Given the description of an element on the screen output the (x, y) to click on. 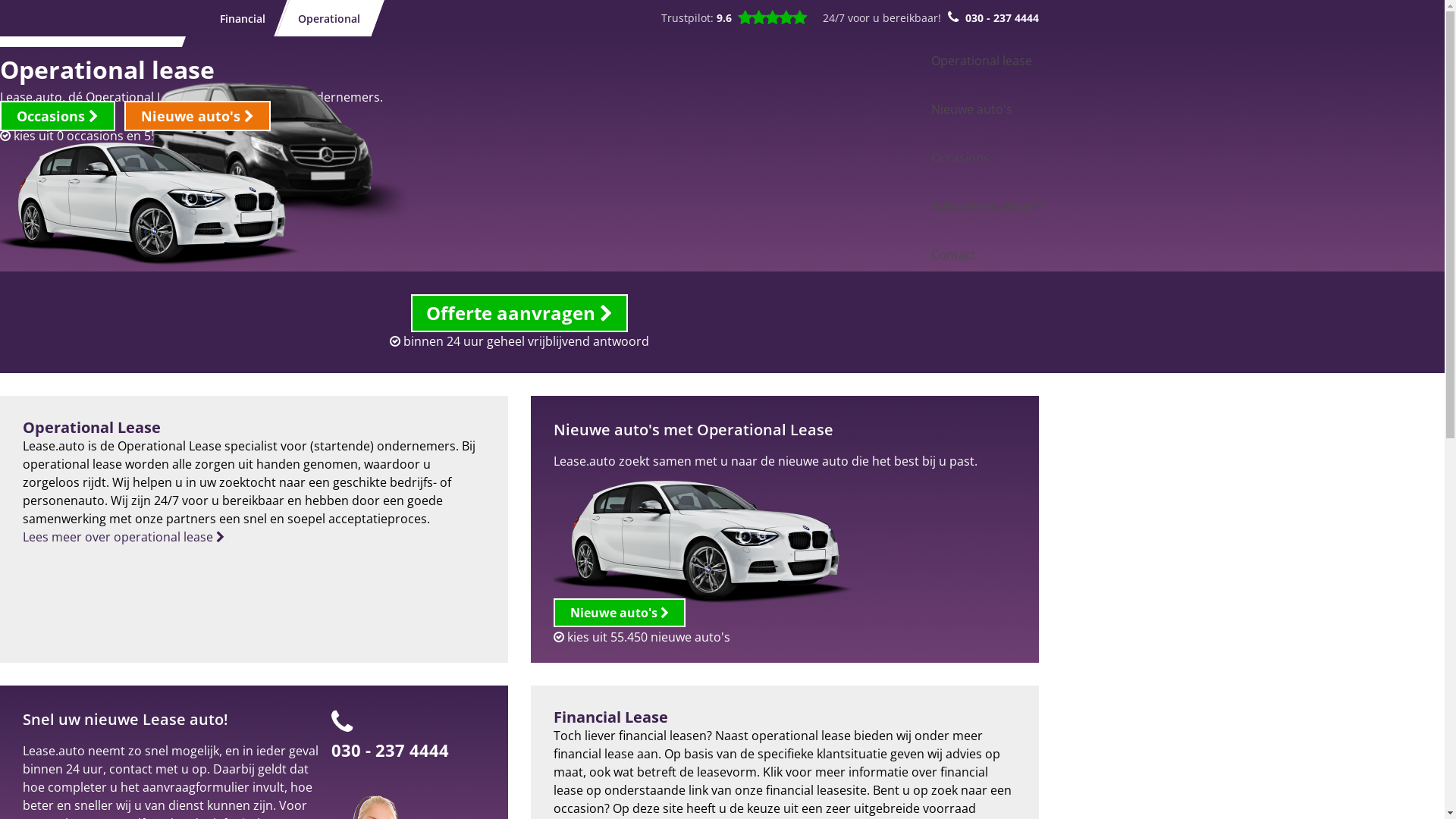
Nieuwe auto's Element type: text (619, 612)
Occasions Element type: text (57, 115)
Operational Element type: text (323, 18)
030 - 237 4444 Element type: text (1001, 17)
Auto elders gezien? Element type: text (986, 205)
Lees meer over operational lease Element type: text (123, 536)
Offerte aanvragen Element type: text (519, 313)
Nieuwe auto's Element type: text (971, 108)
Contact Element type: text (953, 254)
Occasions Element type: text (960, 157)
Nieuwe auto's Element type: text (197, 115)
Operational lease Element type: text (981, 60)
030 - 237 4444 Element type: text (389, 749)
Financial Element type: text (236, 18)
